Given the description of an element on the screen output the (x, y) to click on. 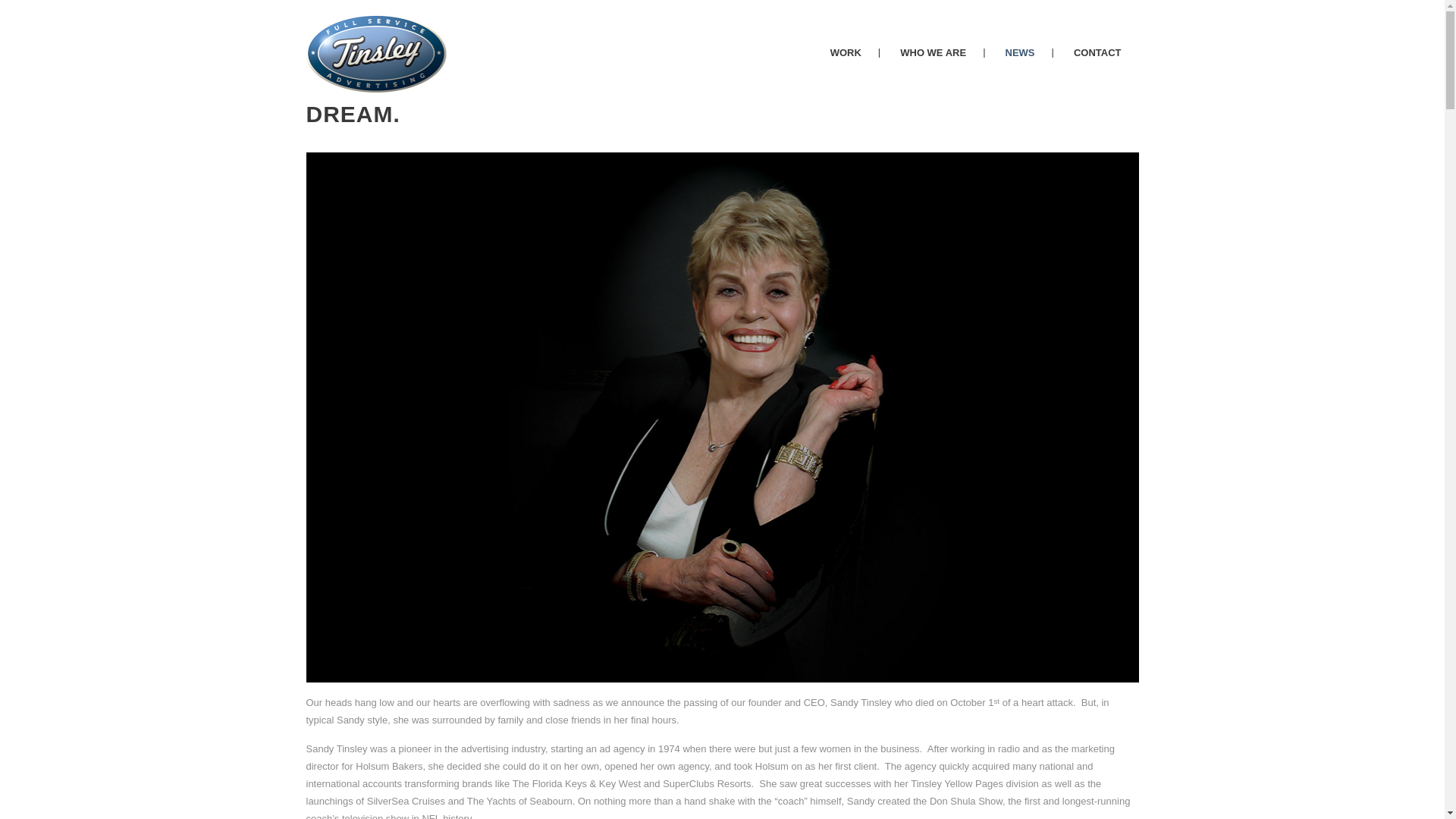
TODAY MARKS THE END OF A LEGEND, BUT NOT THE END OF A DREAM. (681, 100)
Tinsley Blog (446, 42)
WHO WE ARE (933, 53)
